Given the description of an element on the screen output the (x, y) to click on. 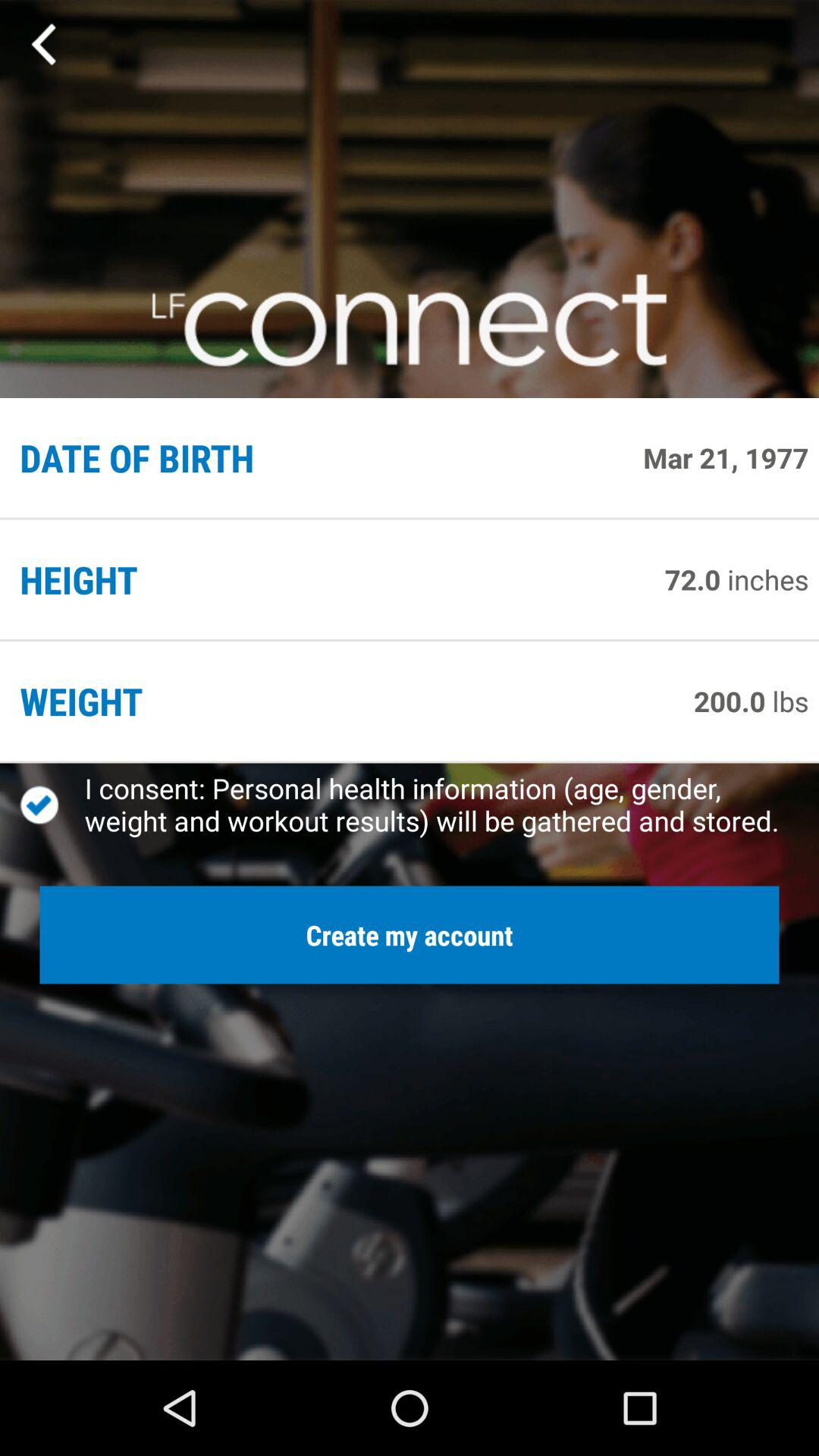
press app to the left of the i consent personal (51, 804)
